Given the description of an element on the screen output the (x, y) to click on. 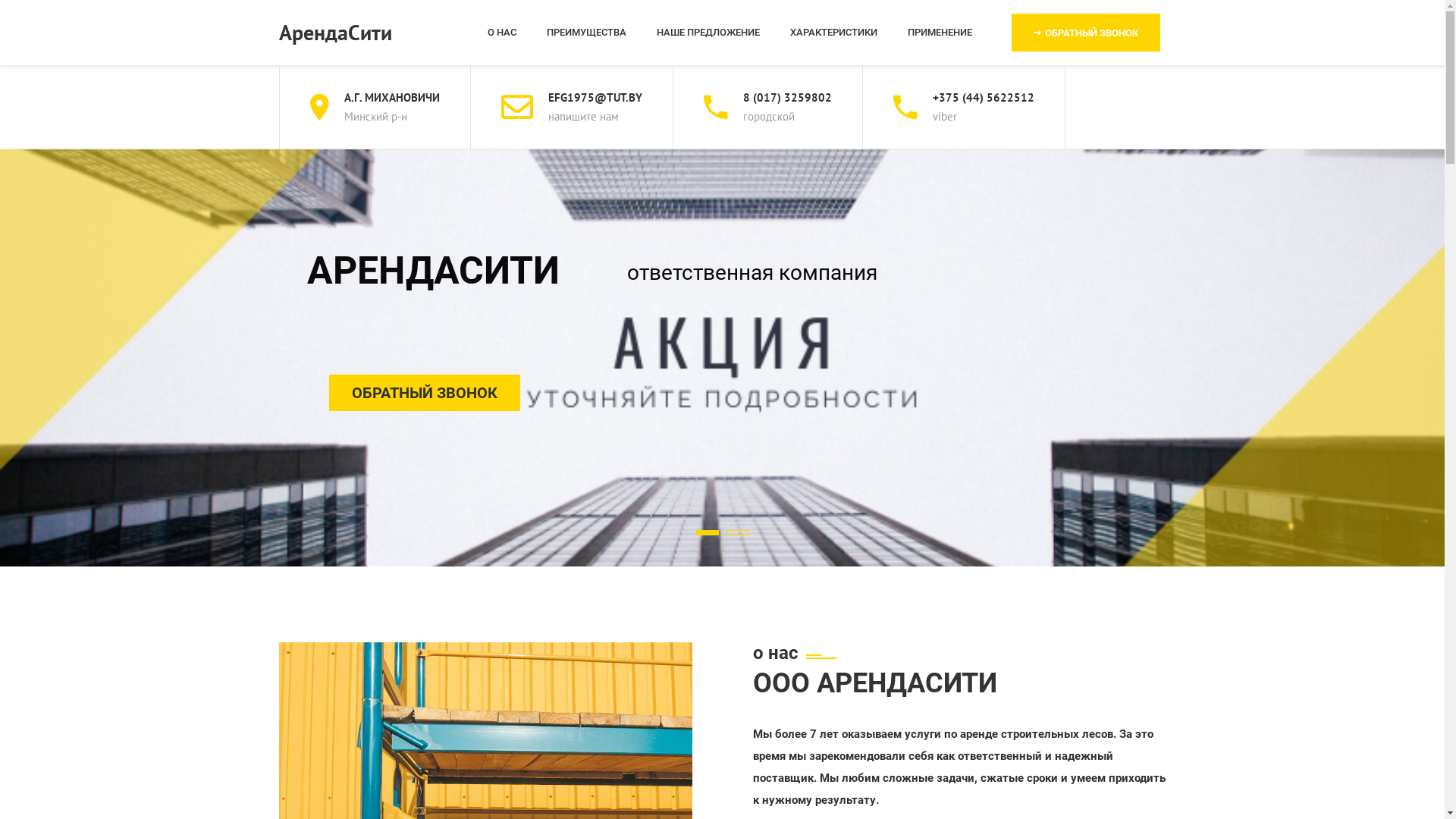
+375 (44) 5622512 Element type: text (983, 97)
8 (017) 3259802 Element type: text (787, 97)
EFG1975@TUT.BY Element type: text (594, 97)
